Given the description of an element on the screen output the (x, y) to click on. 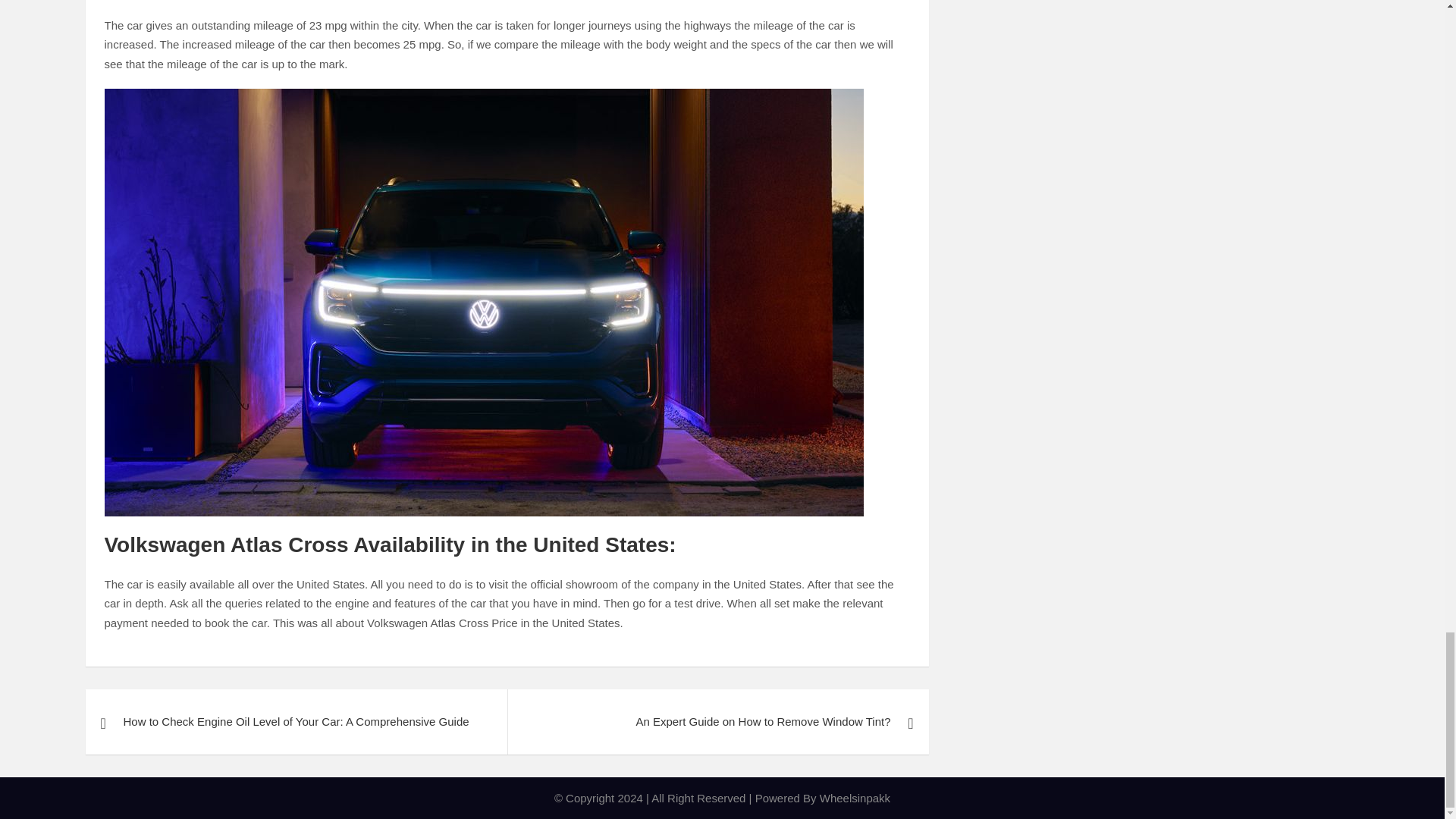
An Expert Guide on How to Remove Window Tint? (717, 721)
